Given the description of an element on the screen output the (x, y) to click on. 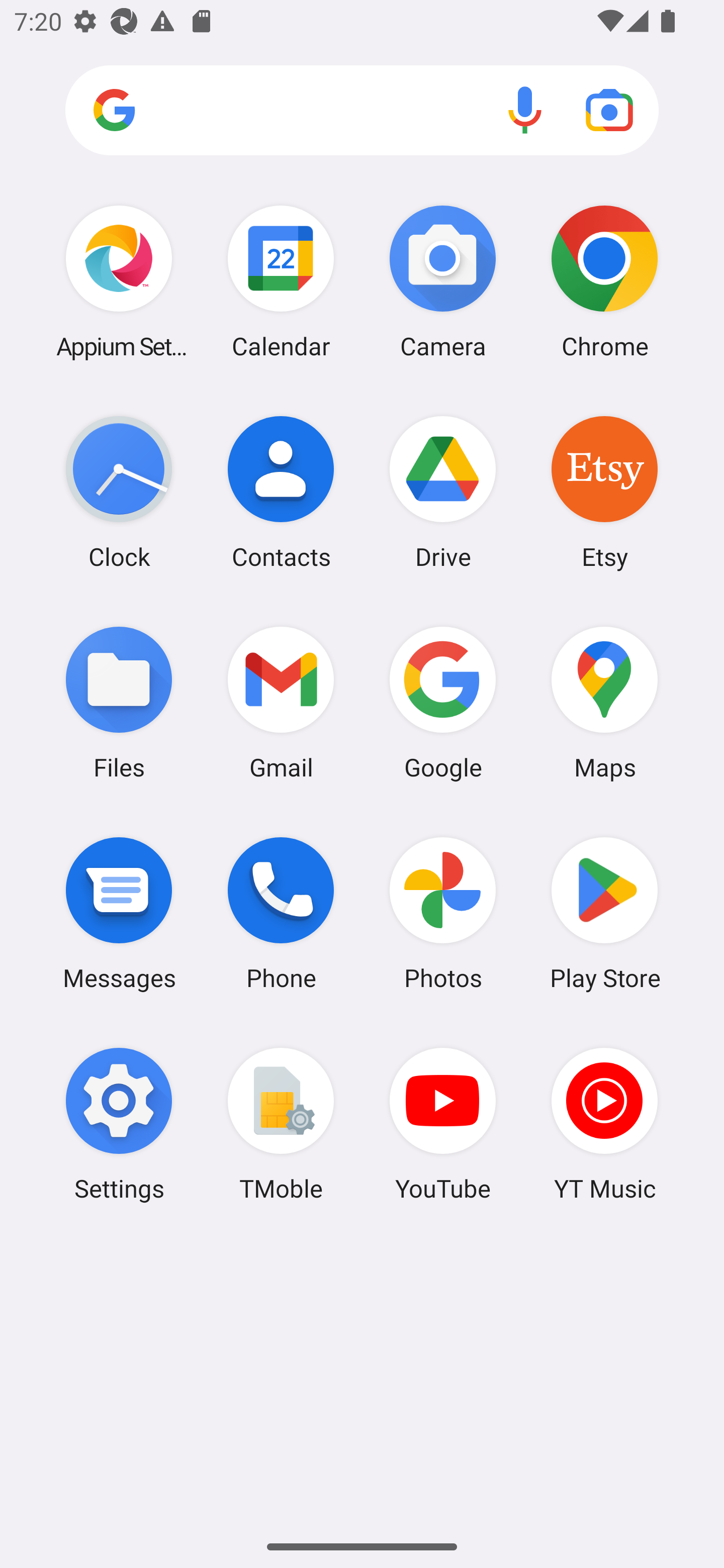
Search apps, web and more (361, 110)
Voice search (524, 109)
Google Lens (608, 109)
Appium Settings (118, 281)
Calendar (280, 281)
Camera (443, 281)
Chrome (604, 281)
Clock (118, 492)
Contacts (280, 492)
Drive (443, 492)
Etsy (604, 492)
Files (118, 702)
Gmail (280, 702)
Google (443, 702)
Maps (604, 702)
Messages (118, 913)
Phone (280, 913)
Photos (443, 913)
Play Store (604, 913)
Settings (118, 1124)
TMoble (280, 1124)
YouTube (443, 1124)
YT Music (604, 1124)
